Given the description of an element on the screen output the (x, y) to click on. 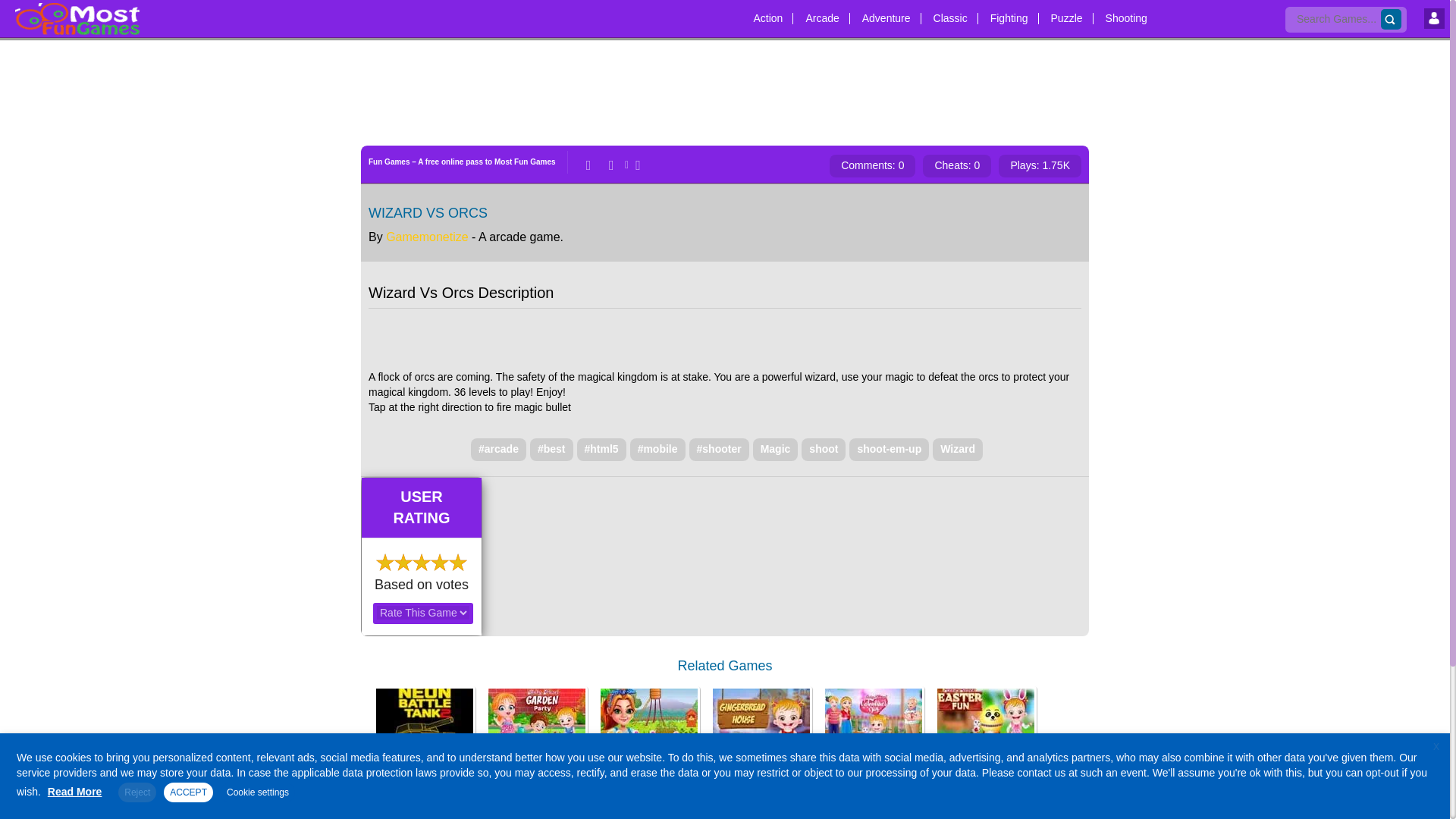
Arcade (821, 13)
Action (767, 13)
Adventure (885, 13)
